Given the description of an element on the screen output the (x, y) to click on. 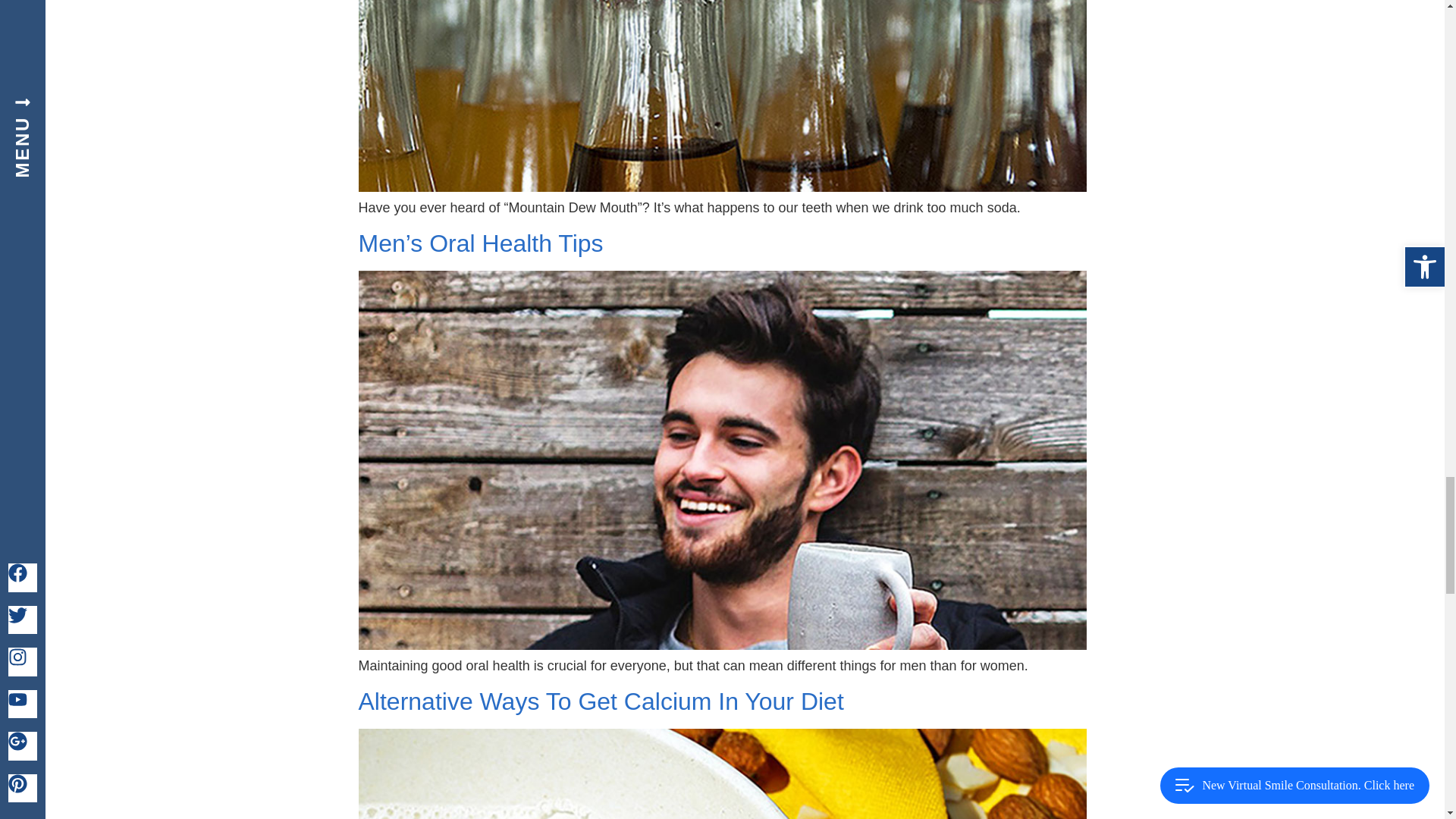
Alternative Ways To Get Calcium In Your Diet (600, 700)
